Given the description of an element on the screen output the (x, y) to click on. 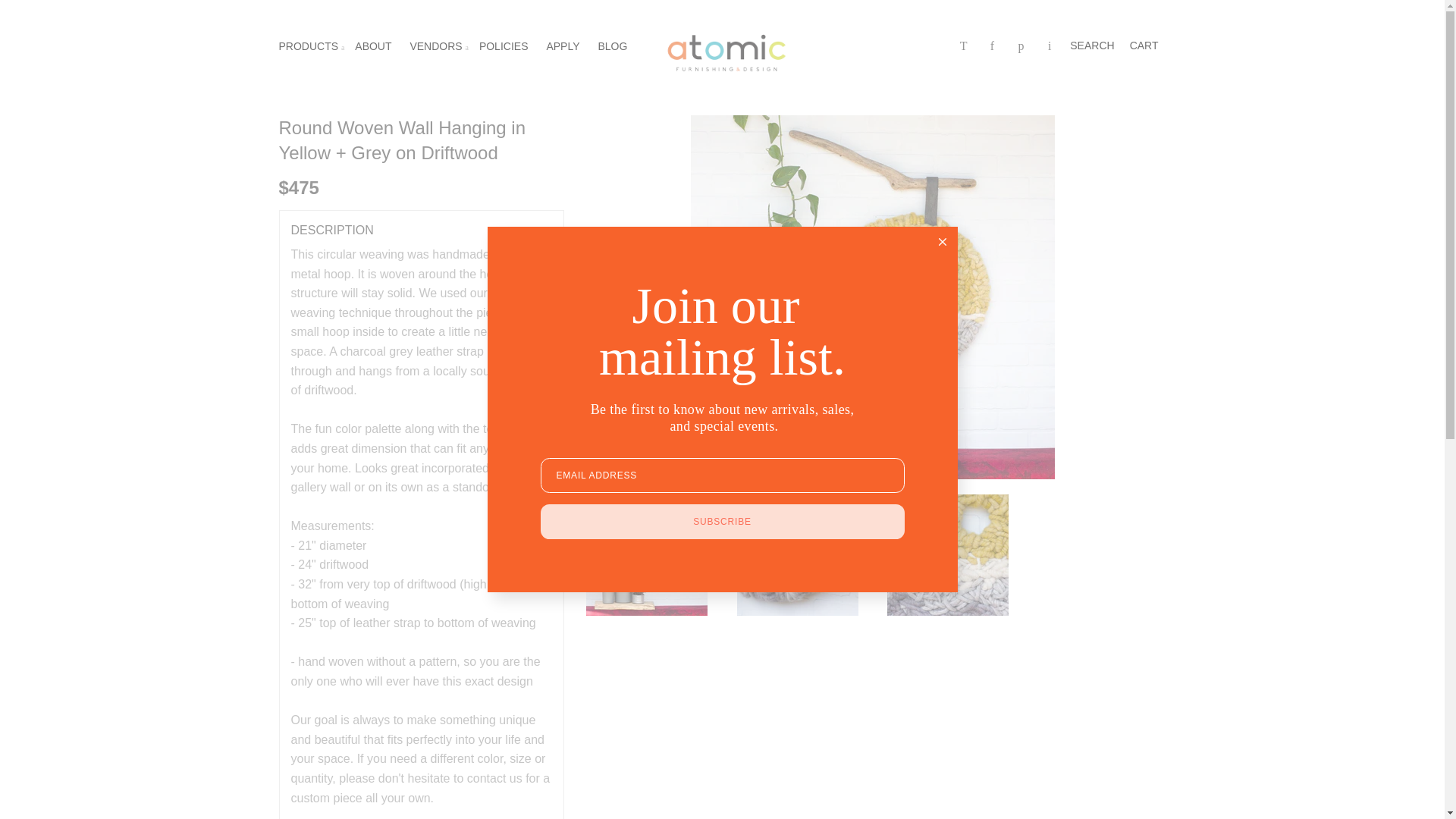
VENDORS (431, 46)
PRODUCTS (309, 46)
Search (1091, 45)
ABOUT (372, 46)
